Given the description of an element on the screen output the (x, y) to click on. 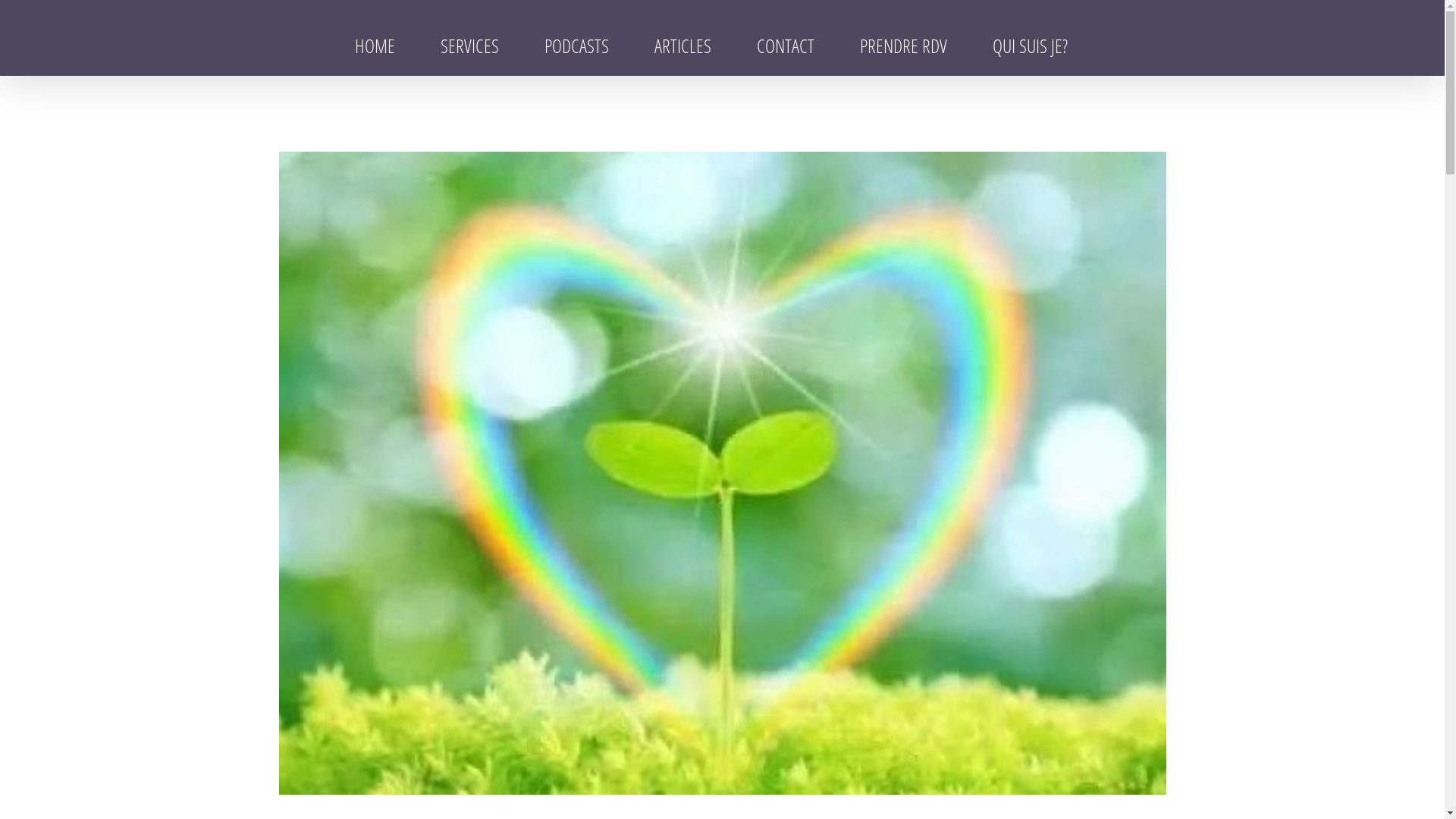
QUI SUIS JE? Element type: text (1030, 45)
PRENDRE RDV Element type: text (902, 45)
Voir l'image agrandie Element type: text (722, 472)
ARTICLES Element type: text (682, 45)
HOME Element type: text (373, 45)
PODCASTS Element type: text (575, 45)
SERVICES Element type: text (469, 45)
CONTACT Element type: text (784, 45)
